Given the description of an element on the screen output the (x, y) to click on. 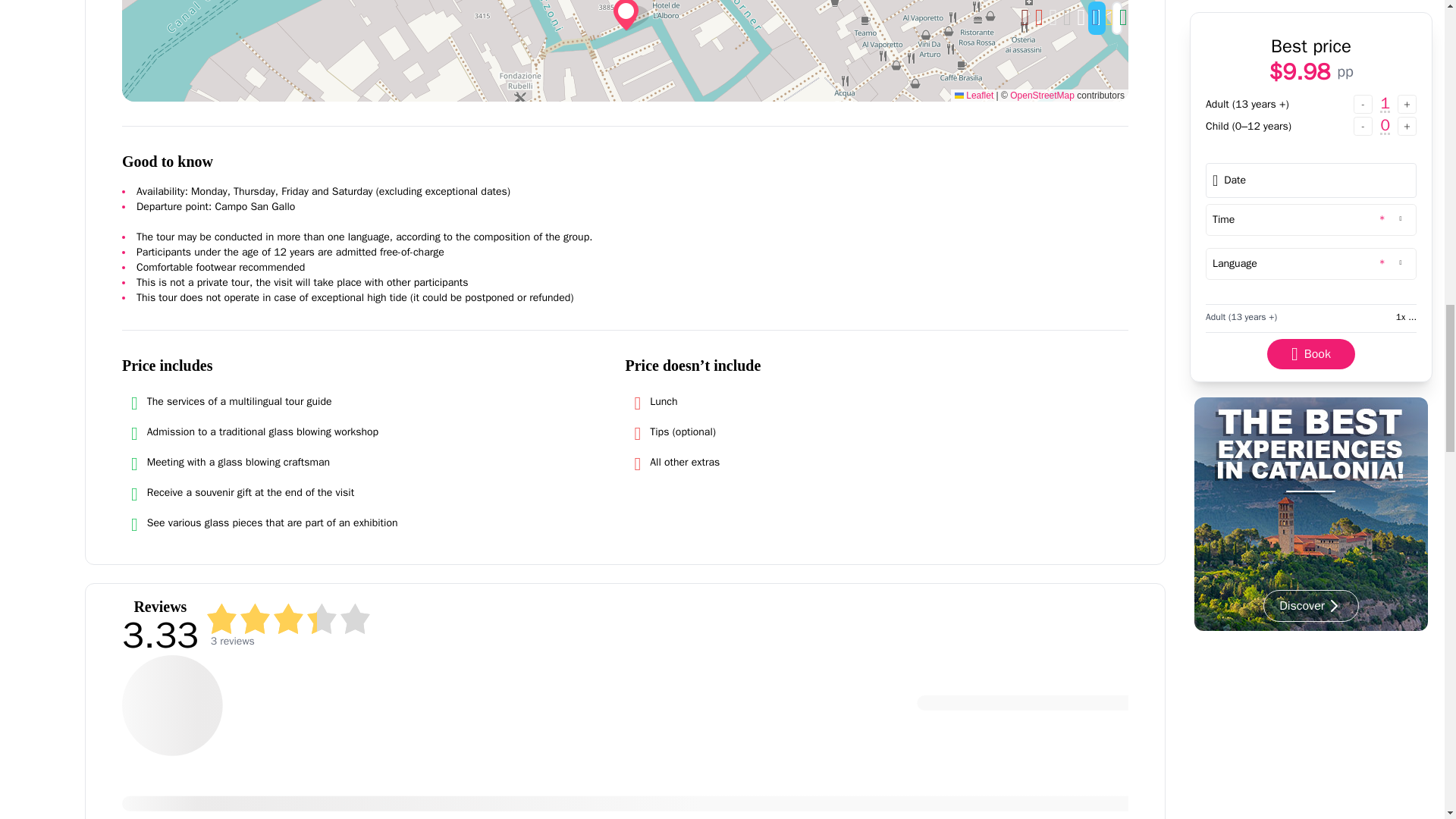
A JavaScript library for interactive maps (973, 95)
OpenStreetMap (1042, 95)
Leaflet (973, 95)
